Given the description of an element on the screen output the (x, y) to click on. 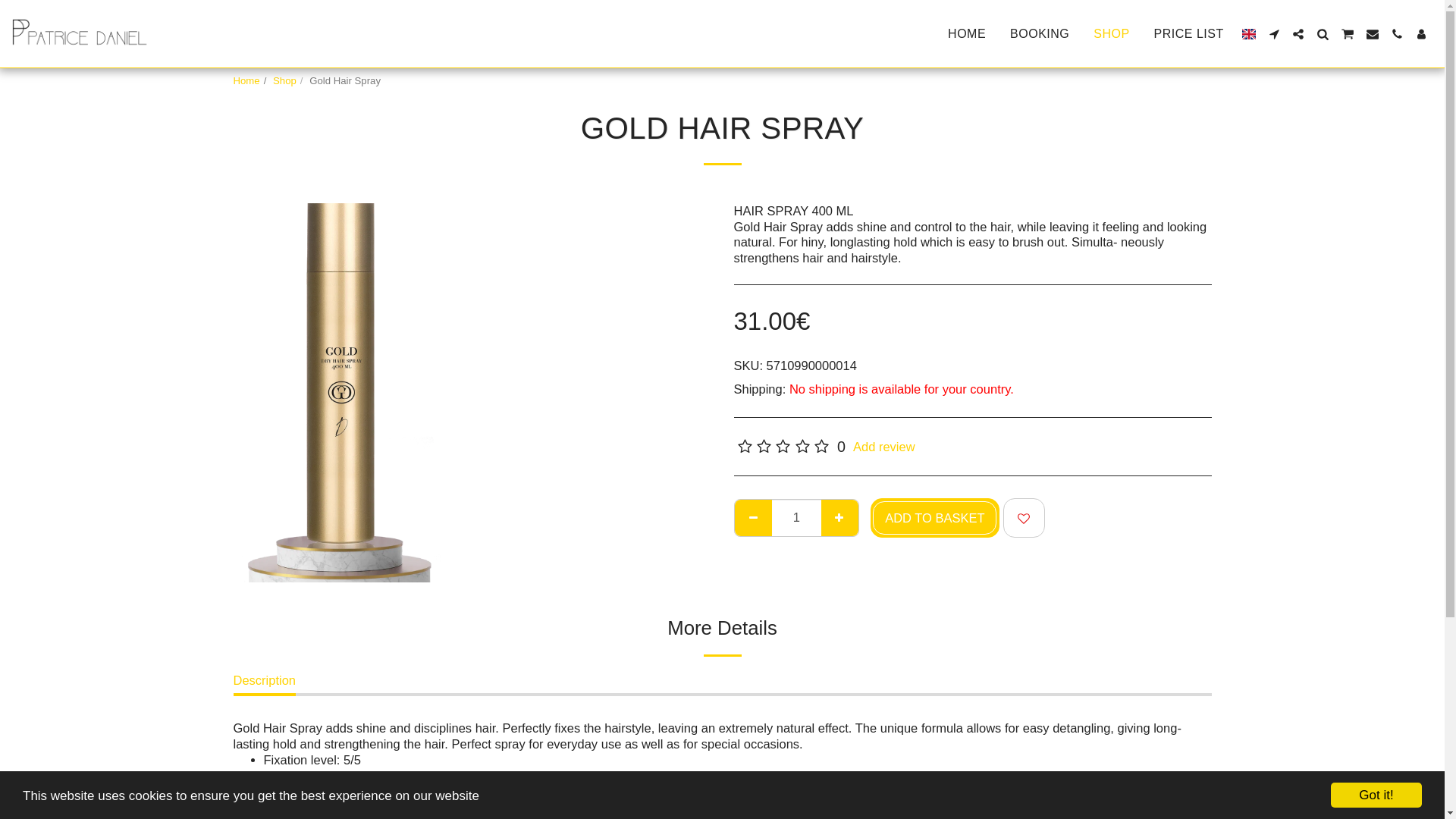
Add review (884, 446)
Home (246, 80)
HOME (966, 33)
ADD TO BASKET (934, 517)
Description (264, 683)
BOOKING (1039, 33)
